Given the description of an element on the screen output the (x, y) to click on. 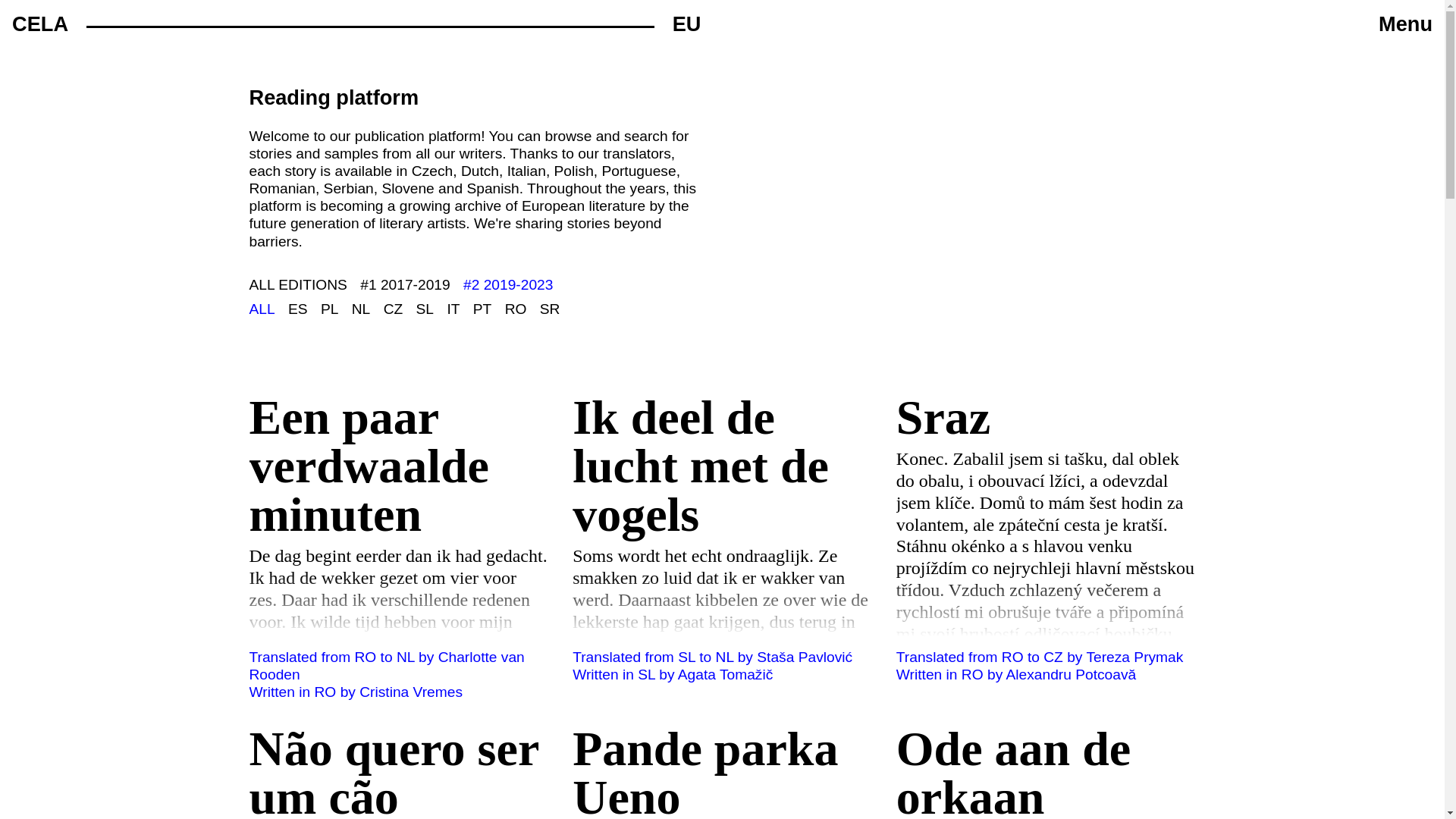
ALL (261, 308)
SL (424, 308)
IT (453, 308)
NL (361, 308)
ES (297, 308)
CZ (393, 308)
PT (356, 24)
SR (482, 308)
Menu (550, 308)
ALL EDITIONS (1405, 24)
RO (297, 284)
PL (516, 308)
